Given the description of an element on the screen output the (x, y) to click on. 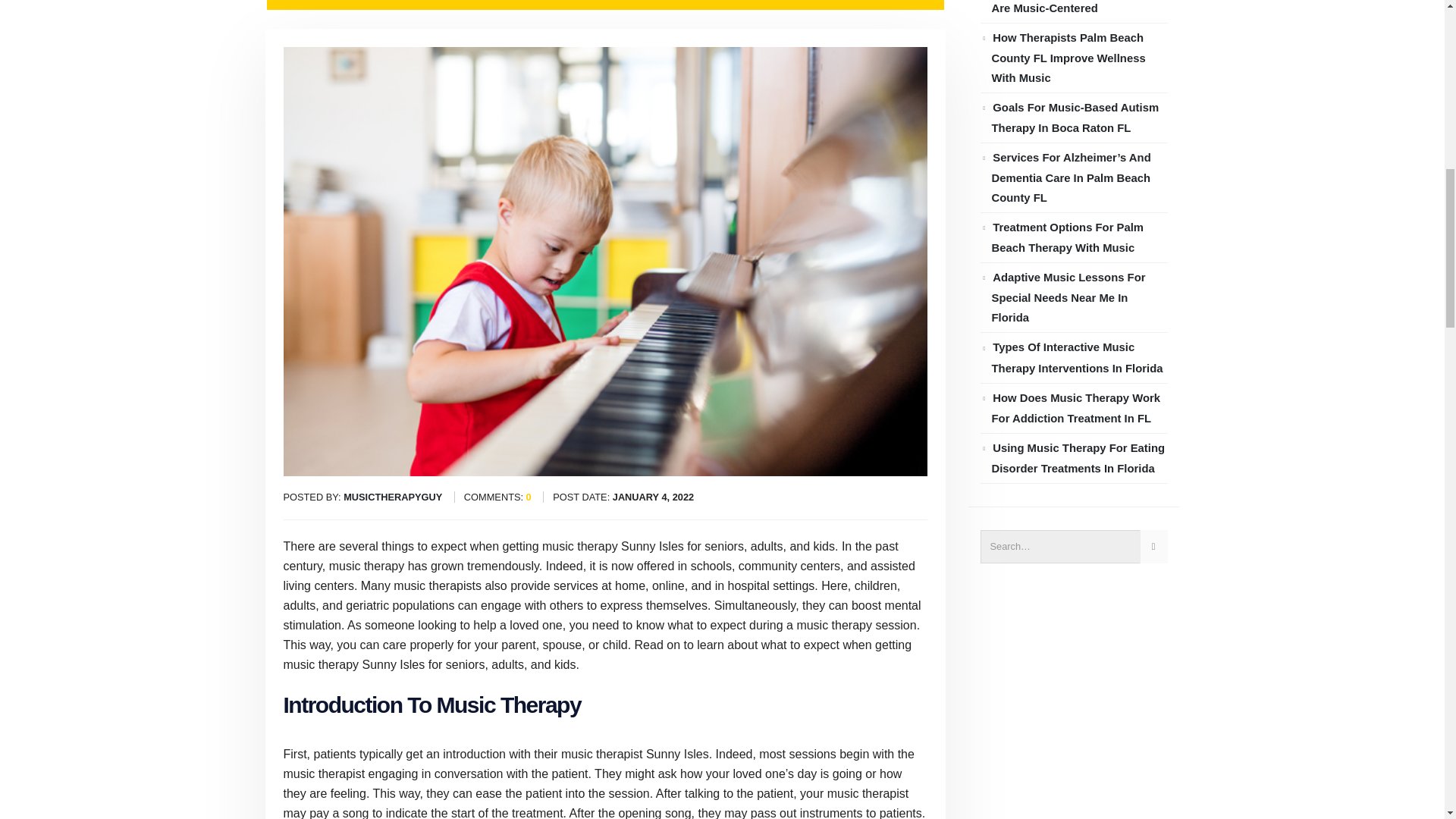
Goals For Music-Based Autism Therapy In Boca Raton FL (1074, 117)
